Given the description of an element on the screen output the (x, y) to click on. 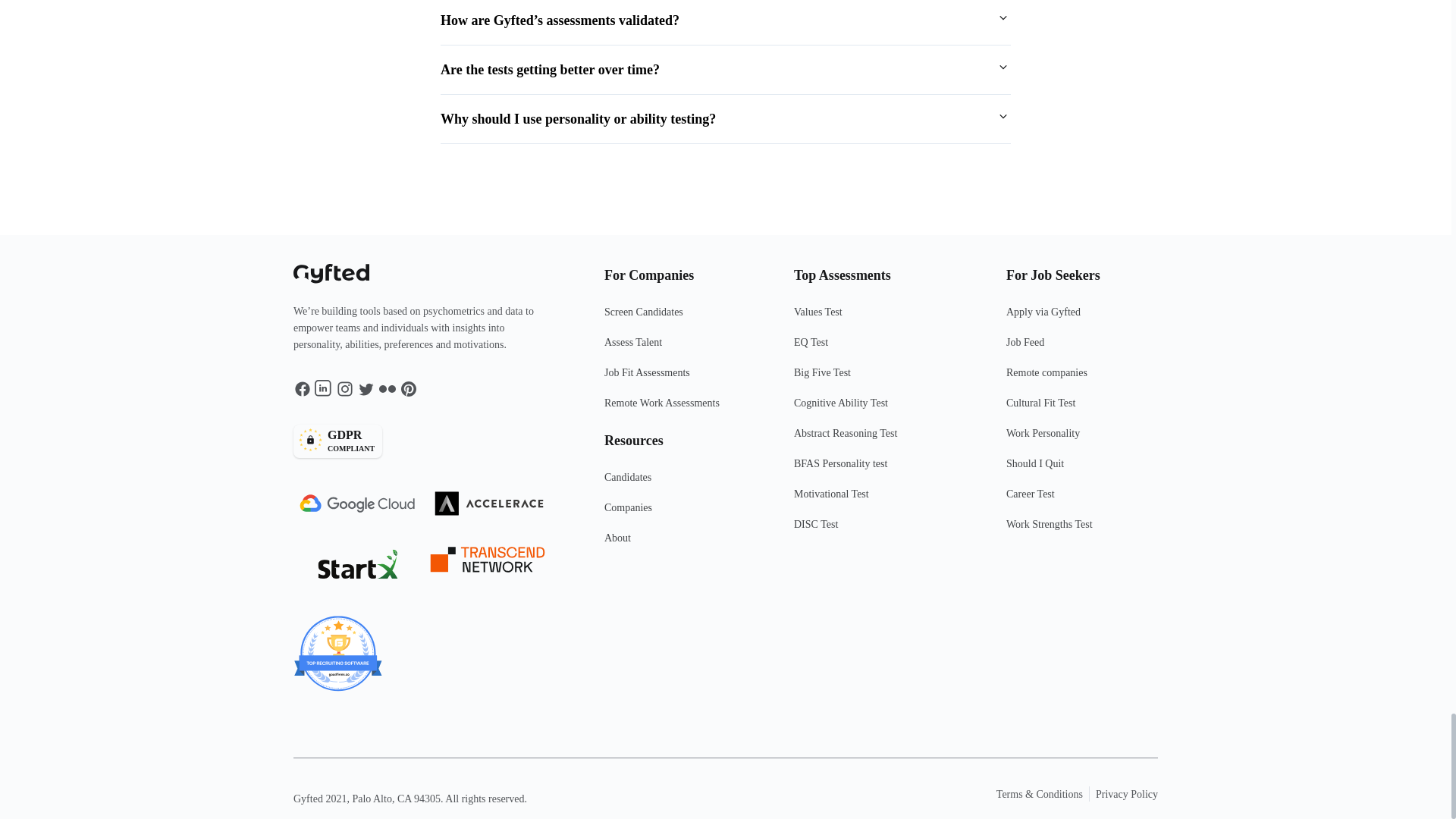
Assess Talent (679, 348)
Screen Candidates (679, 318)
EQ Test (880, 348)
Values Test (880, 318)
Remote Work Assessments (425, 441)
Candidates (679, 409)
Job Fit Assessments (679, 483)
About (679, 378)
Big Five Test (679, 544)
Companies (880, 378)
